Given the description of an element on the screen output the (x, y) to click on. 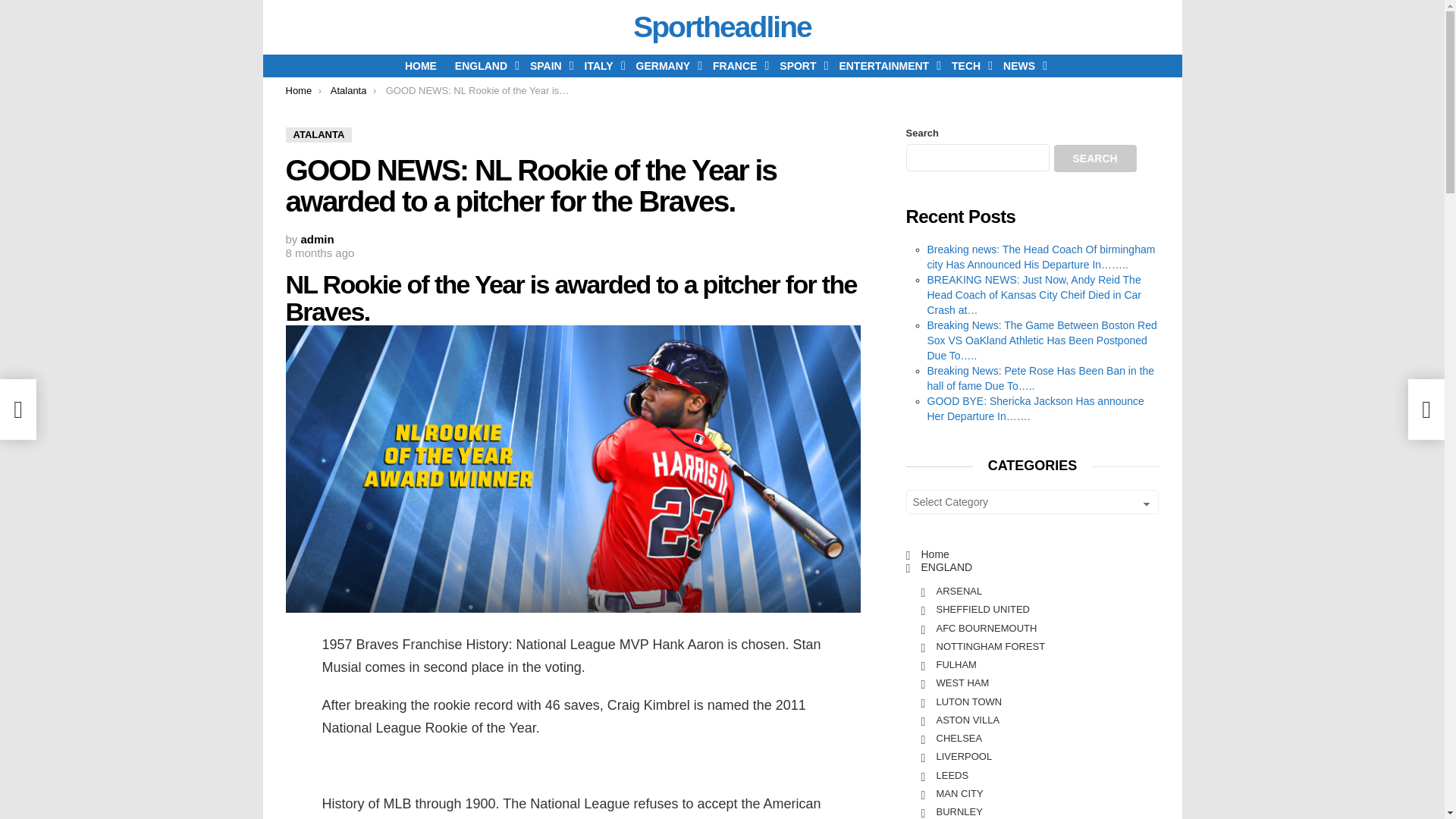
GERMANY (665, 65)
ENGLAND (482, 65)
ITALY (601, 65)
Sportheadline (721, 26)
November 17, 2023, 7:41 pm (319, 253)
SPAIN (547, 65)
Posts by admin (317, 238)
HOME (420, 65)
